Given the description of an element on the screen output the (x, y) to click on. 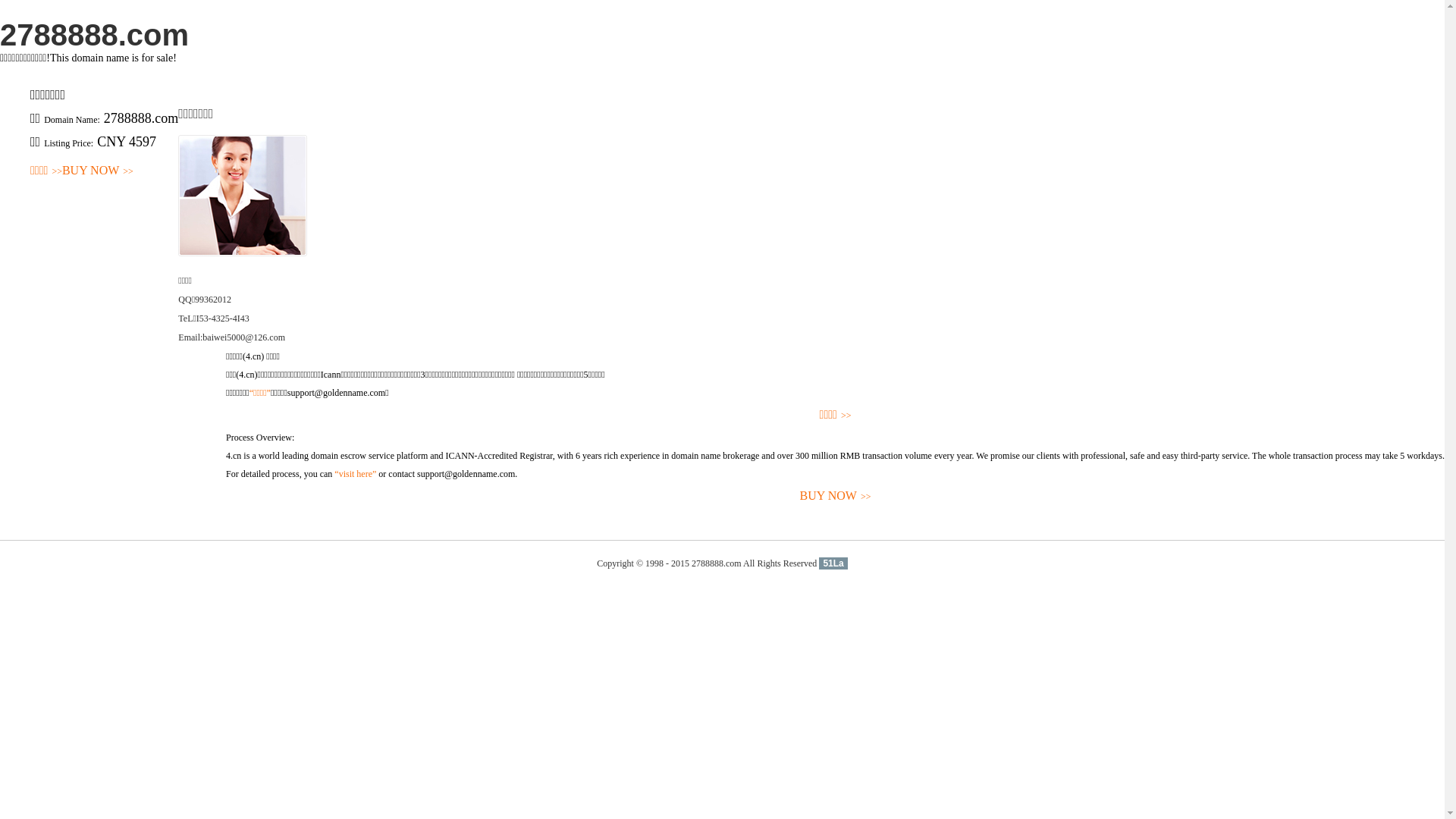
BUY NOW>> Element type: text (834, 496)
BUY NOW>> Element type: text (97, 170)
51La Element type: text (833, 563)
